Given the description of an element on the screen output the (x, y) to click on. 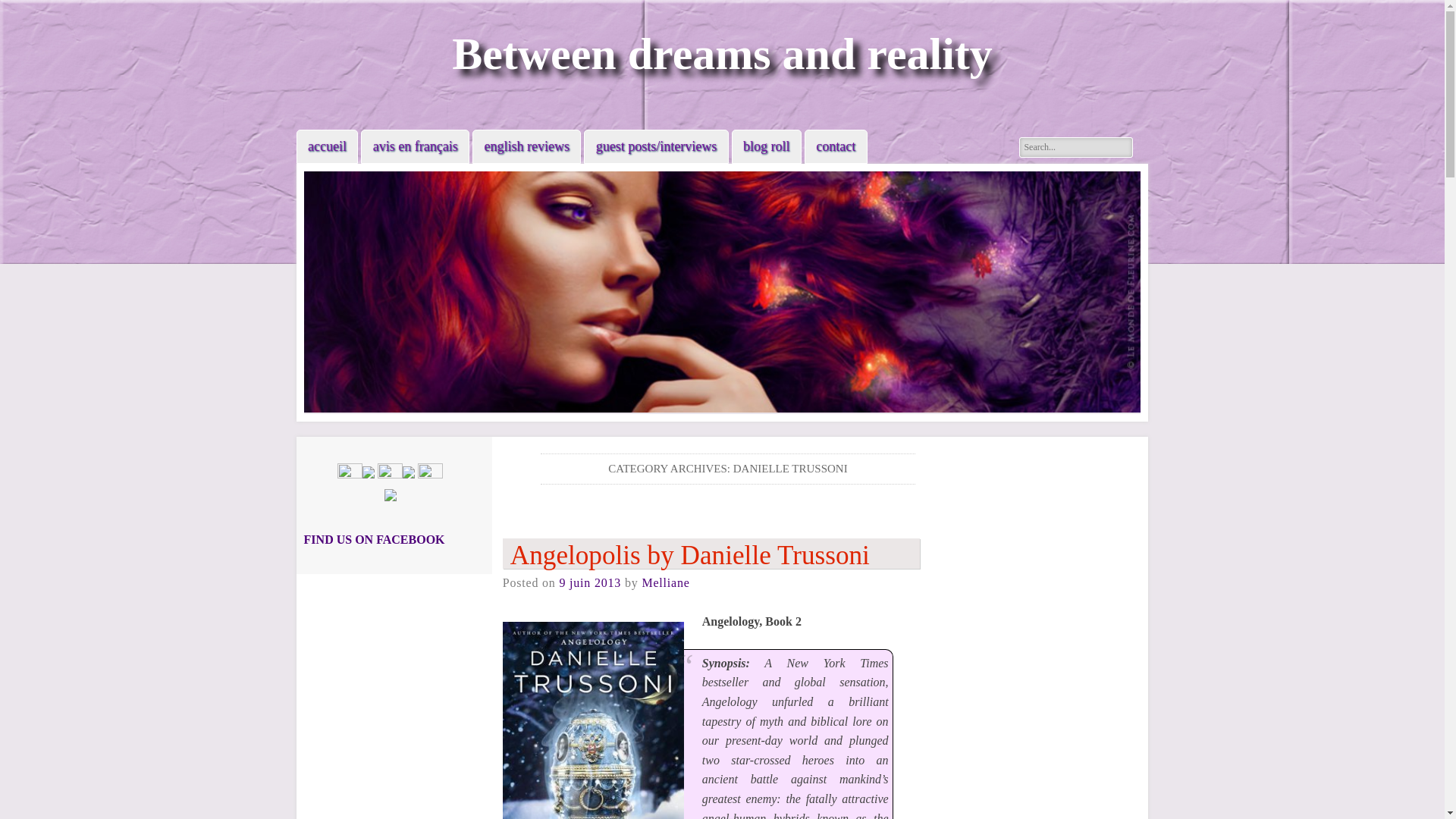
Permalink to Angelopolis by Danielle Trussoni (711, 553)
accueil (327, 146)
12 h 43 min (590, 582)
Between dreams and reality (721, 53)
contact (835, 146)
blog roll (766, 146)
english reviews (526, 146)
View all posts by Melliane (665, 582)
Melliane (665, 582)
Search (24, 9)
